Given the description of an element on the screen output the (x, y) to click on. 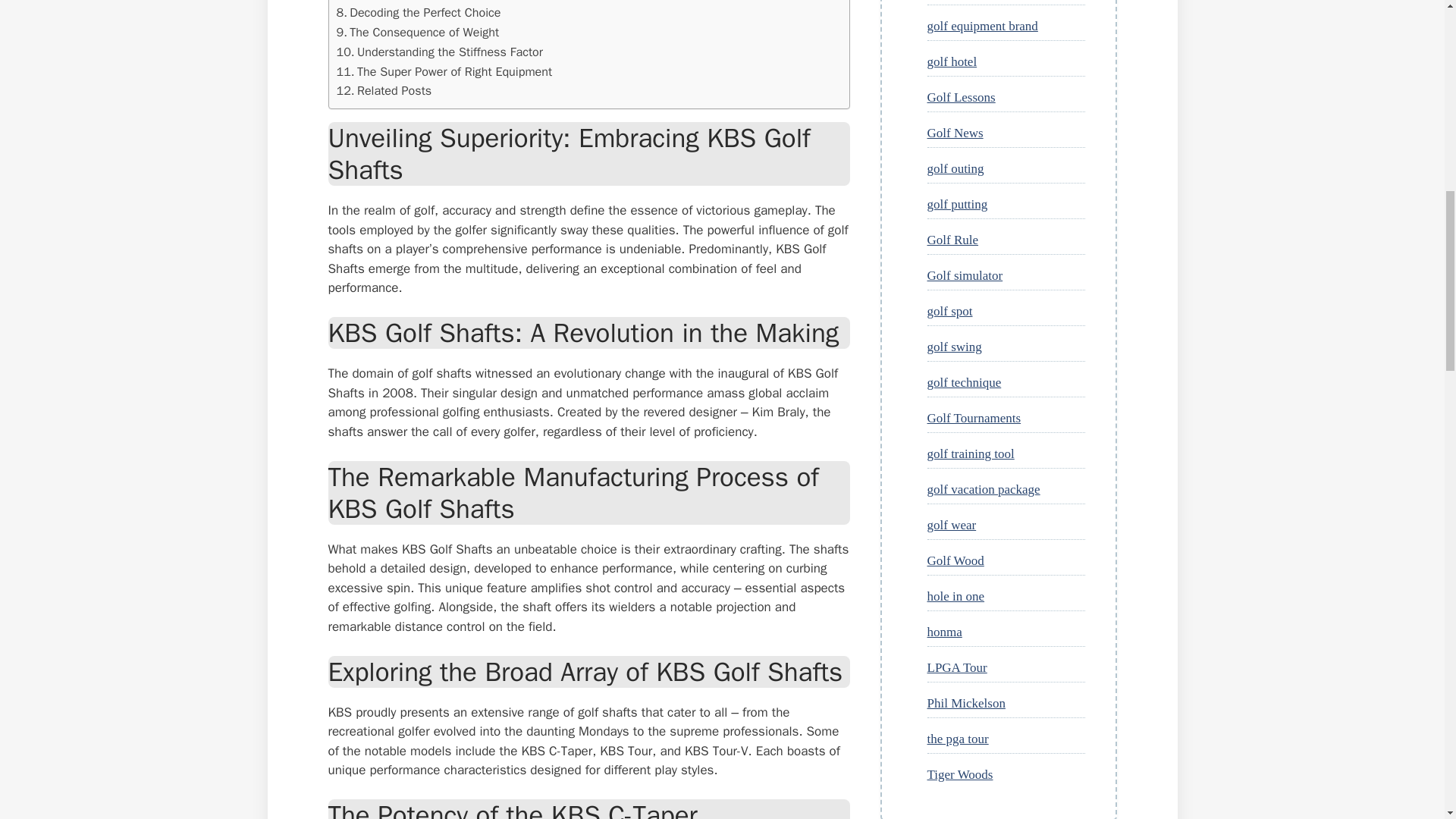
Related Posts (384, 90)
The Super Power of Right Equipment (444, 71)
The Lightness of KBS Tour-V (419, 1)
The Lightness of KBS Tour-V (419, 1)
Understanding the Stiffness Factor (439, 52)
Decoding the Perfect Choice (418, 12)
The Super Power of Right Equipment (444, 71)
The Consequence of Weight (417, 32)
The Consequence of Weight (417, 32)
Decoding the Perfect Choice (418, 12)
Understanding the Stiffness Factor (439, 52)
Related Posts (384, 90)
